Given the description of an element on the screen output the (x, y) to click on. 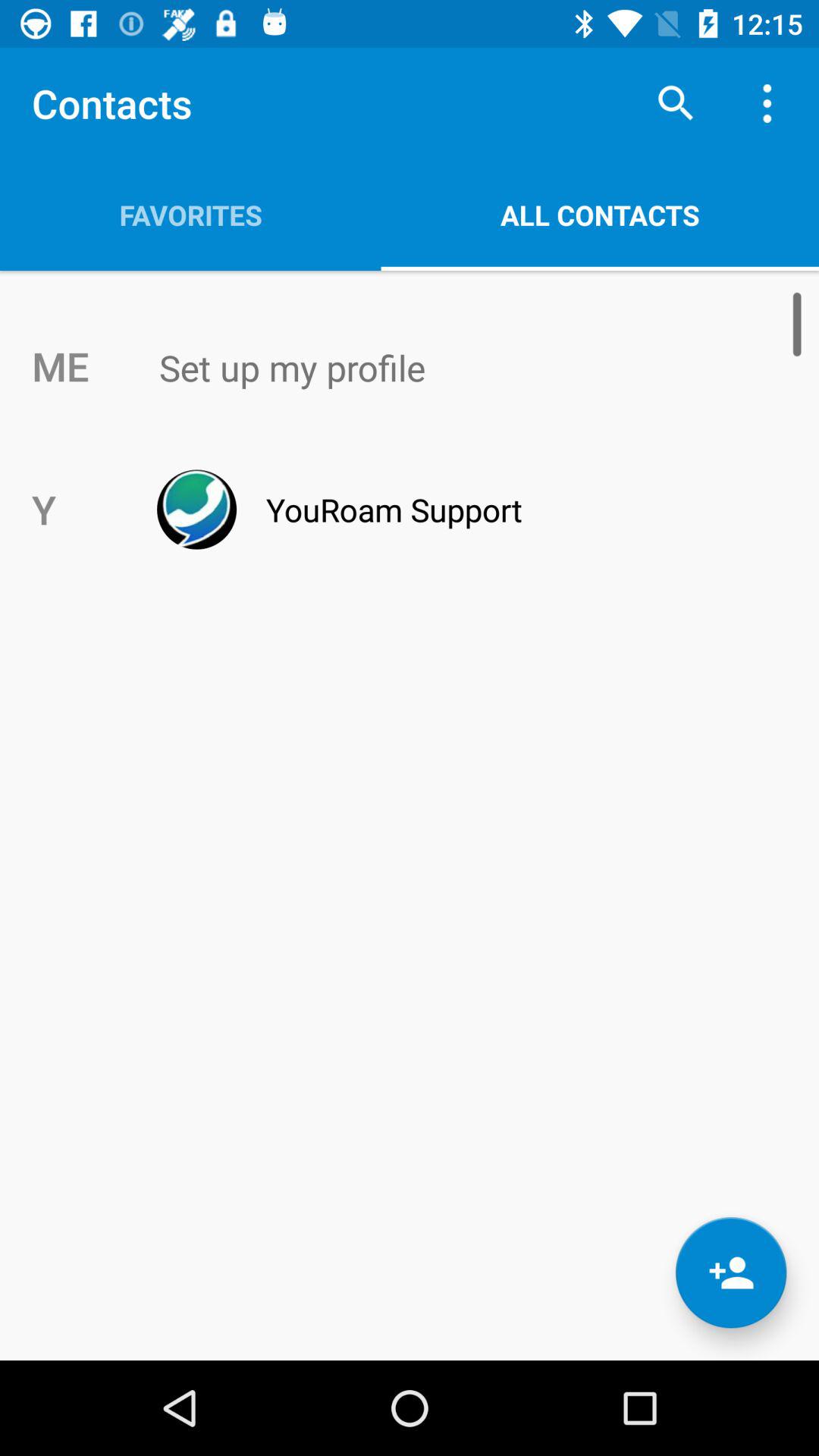
click on search symbol (675, 103)
click on set up my profile (441, 367)
select the icon beside youroam support (196, 510)
click on the text right to the favorites text (600, 214)
select the more options icon beside search icon (771, 103)
